Given the description of an element on the screen output the (x, y) to click on. 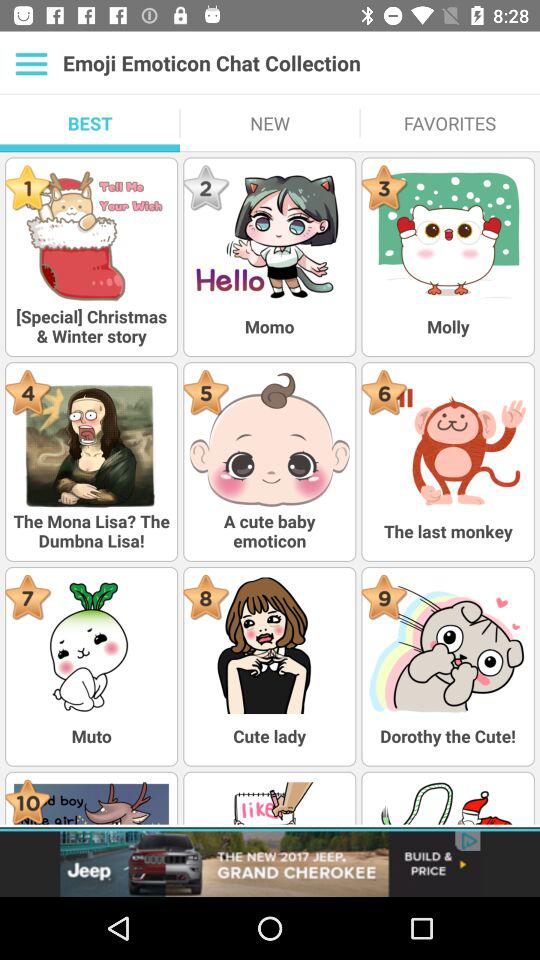
advertisement about grand cherokee (270, 864)
